Given the description of an element on the screen output the (x, y) to click on. 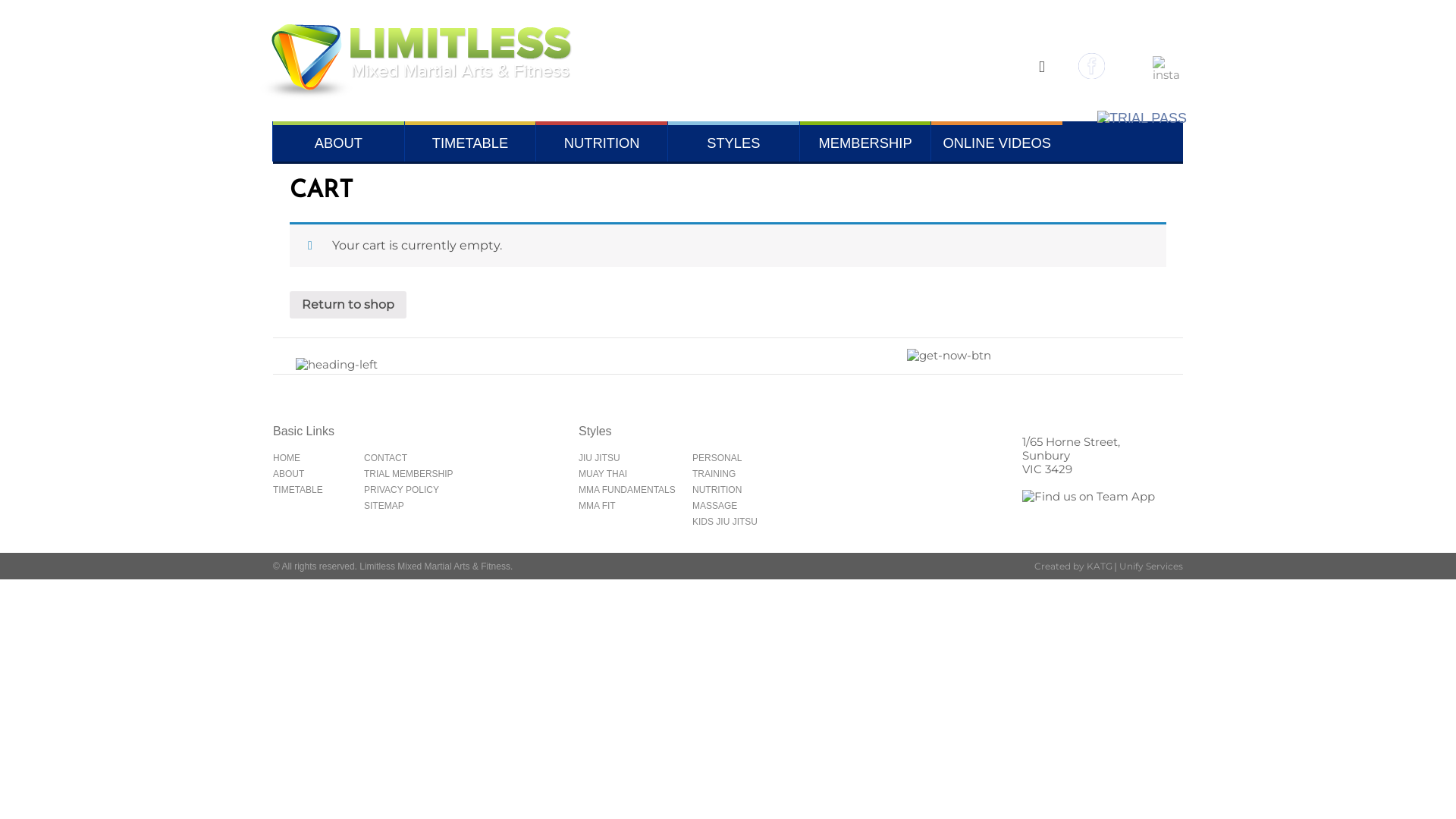
ABOUT Element type: text (288, 473)
limit-less Element type: hover (415, 95)
SITEMAP Element type: text (384, 505)
Trial Pass Element type: hover (1141, 118)
PERSONAL TRAINING Element type: text (716, 465)
CONTACT Element type: text (385, 457)
MASSAGE Element type: text (714, 505)
TIMETABLE Element type: text (470, 141)
NUTRITION Element type: text (716, 489)
HOME Element type: text (286, 457)
MEMBERSHIP Element type: text (865, 141)
STYLES Element type: text (733, 141)
TIMETABLE Element type: text (298, 489)
TRIAL MEMBERSHIP Element type: text (408, 473)
PRIVACY POLICY Element type: text (401, 489)
MMA FUNDAMENTALS Element type: text (626, 489)
Unify Services Element type: text (1151, 565)
Return to shop Element type: text (347, 304)
YouTube Element type: hover (1165, 74)
MUAY THAI Element type: text (602, 473)
Find us on Team App Element type: hover (1088, 496)
ABOUT Element type: text (338, 141)
Instagram Element type: hover (1128, 74)
Get-now Element type: hover (948, 355)
Created by KATG Element type: text (1074, 565)
NUTRITION Element type: text (601, 143)
MMA FIT Element type: text (596, 505)
ONLINE VIDEOS Element type: text (996, 141)
JIU JITSU Element type: text (599, 457)
KIDS JIU JITSU Element type: text (724, 521)
facebook Element type: hover (1091, 74)
